Given the description of an element on the screen output the (x, y) to click on. 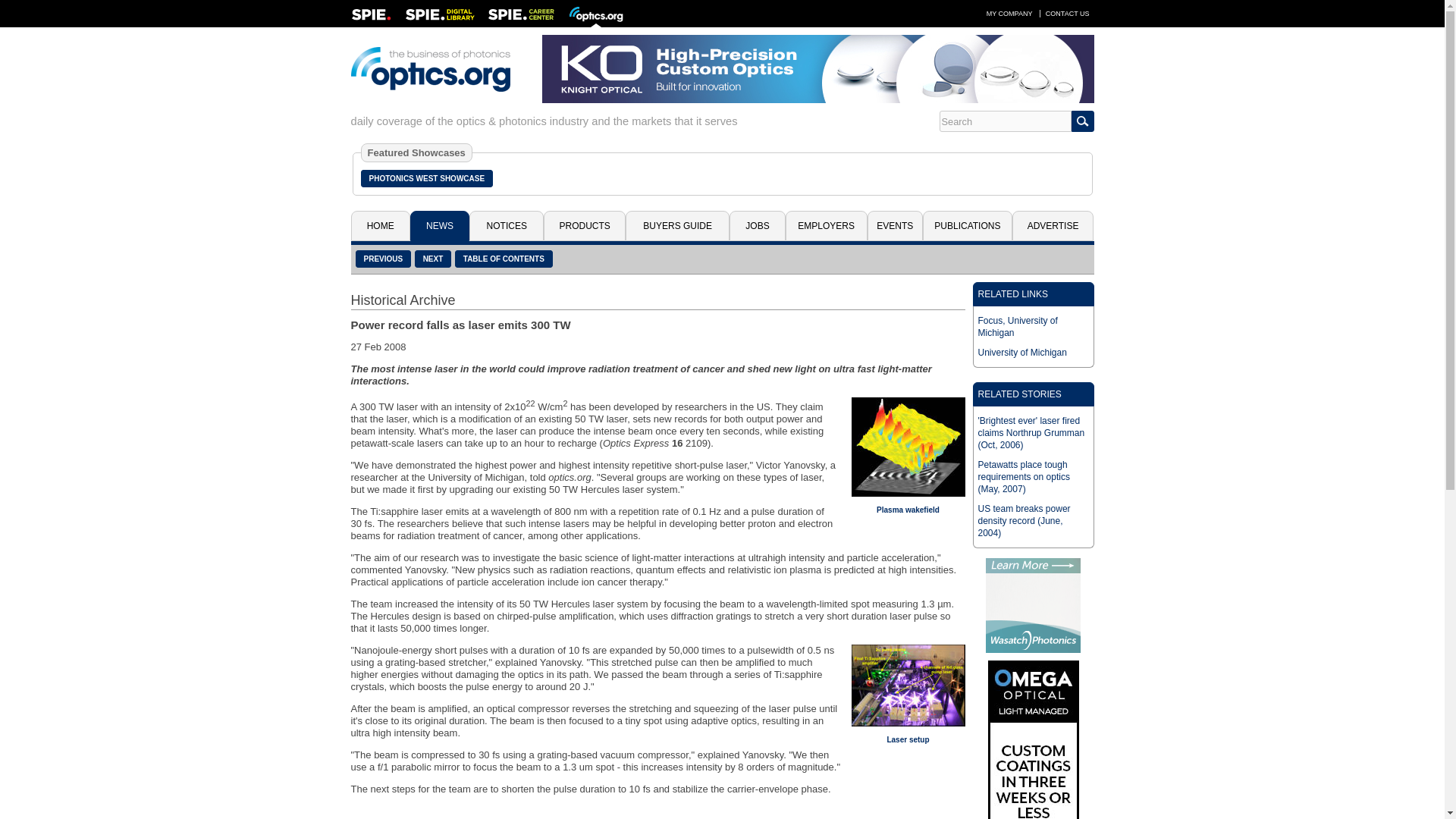
Search (1004, 120)
NOTICES (505, 225)
JOBS (757, 225)
PRODUCTS (584, 225)
HOME (379, 225)
Plasma wakefield (906, 446)
NEWS (439, 225)
MY COMPANY (1008, 13)
Laser setup (907, 739)
PHOTONICS WEST SHOWCASE (427, 178)
Plasma wakefield (907, 510)
Laser setup (906, 685)
BUYERS GUIDE (677, 225)
CONTACT US (1067, 13)
